Given the description of an element on the screen output the (x, y) to click on. 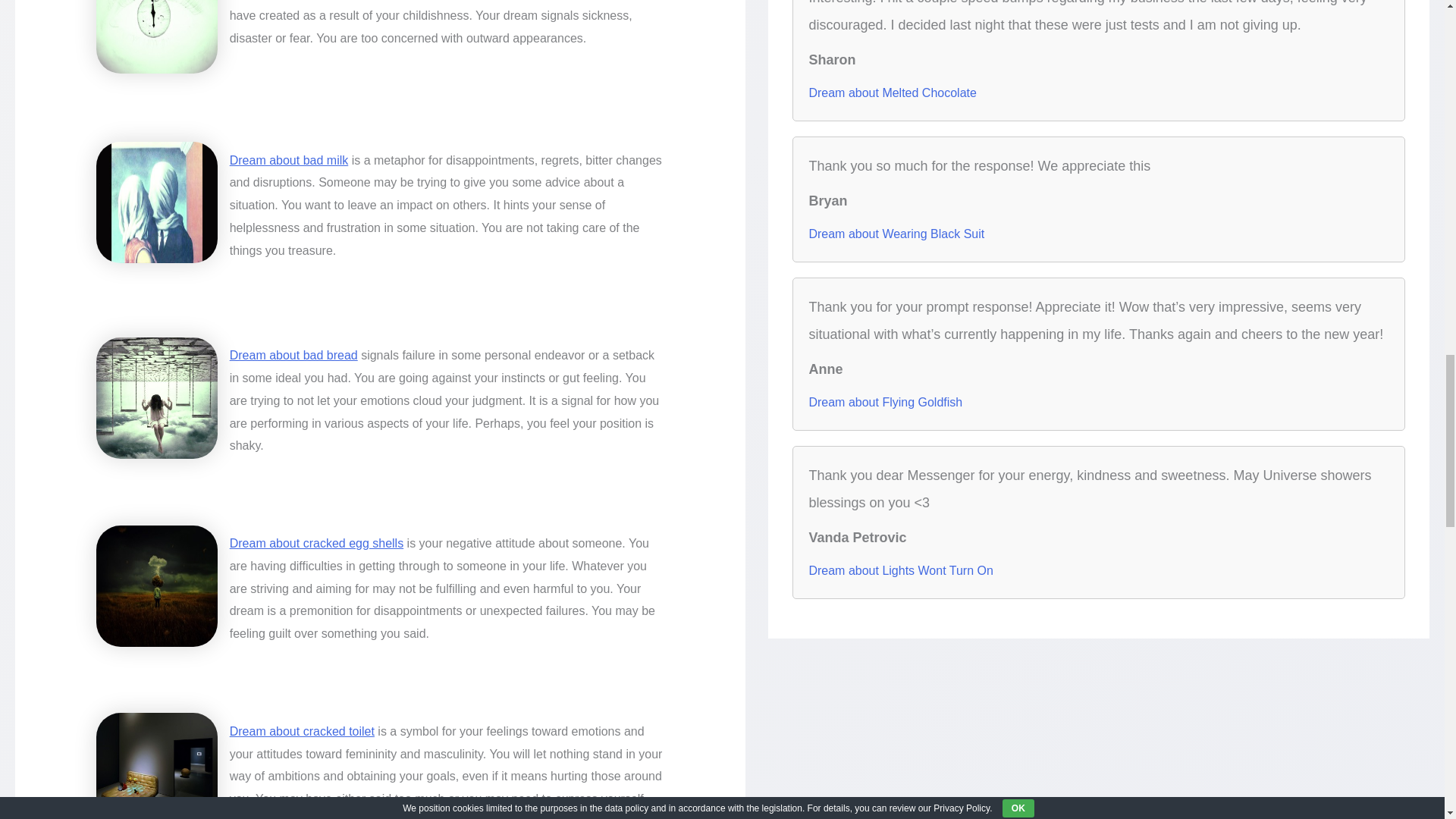
Dream about bad milk (289, 160)
Dream about Melted Chocolate (891, 93)
Dream about bad bread (294, 354)
Dream about cracked egg shells (316, 543)
Dream about Wearing Black Suit (896, 233)
Dream about cracked toilet (302, 730)
Dream about Lights Wont Turn On (900, 570)
Dream about Flying Goldfish (885, 402)
